Given the description of an element on the screen output the (x, y) to click on. 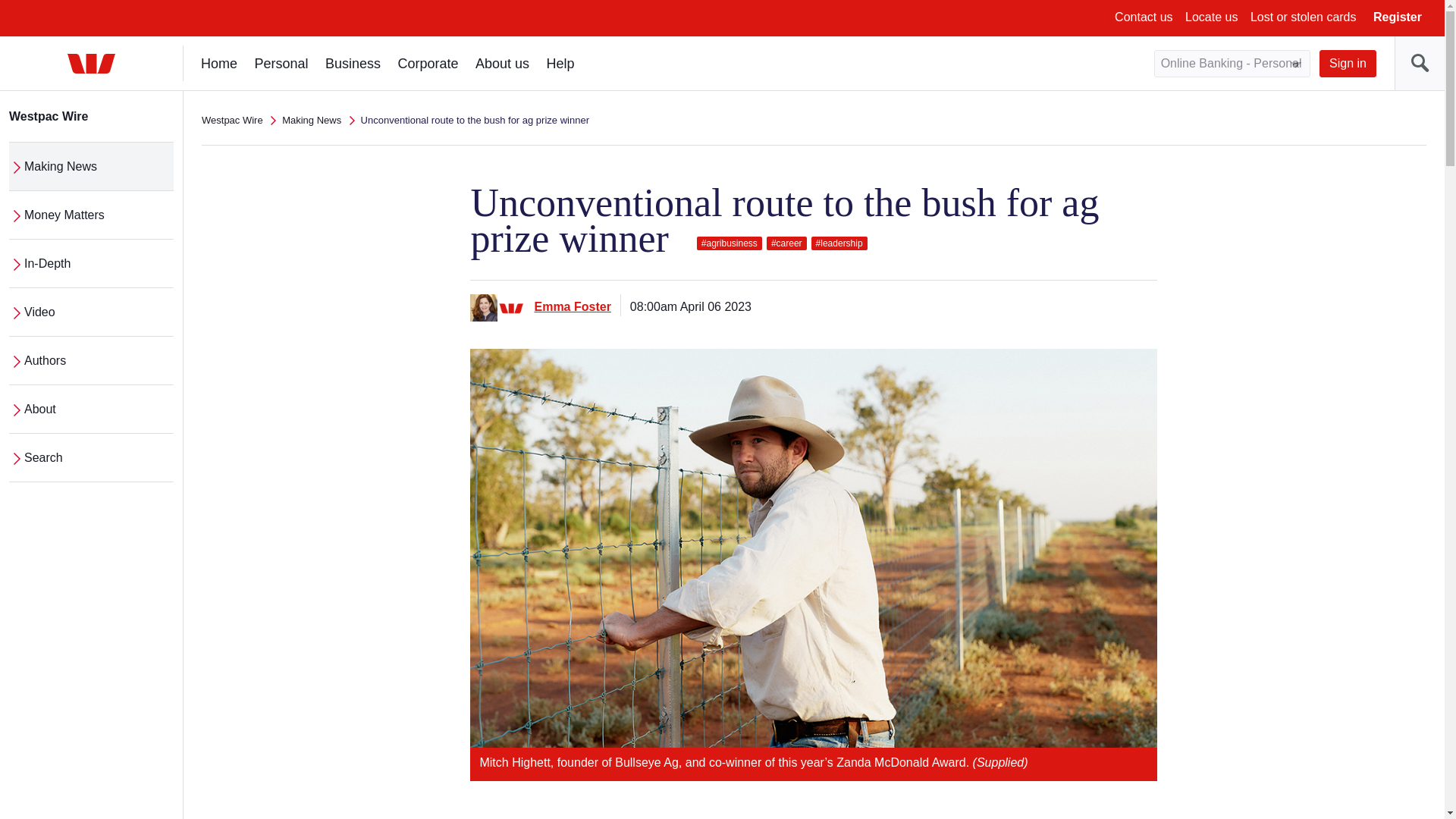
Contact us (1143, 16)
Westpac logo (91, 63)
Lost or stolen cards (1303, 16)
Register (1397, 17)
Locate us (1211, 16)
Sign in (1347, 62)
Search (1419, 63)
